Given the description of an element on the screen output the (x, y) to click on. 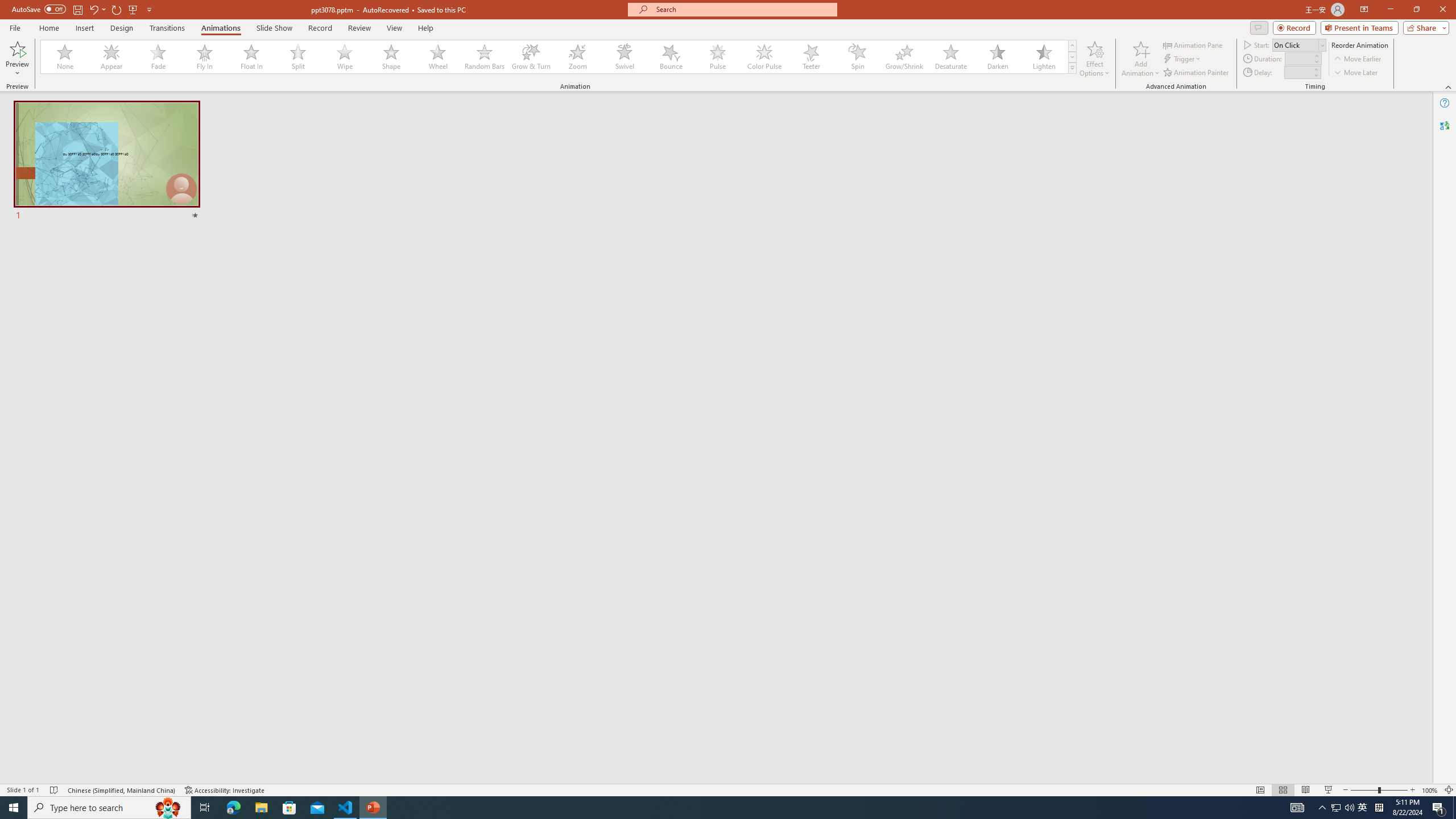
Grow/Shrink (903, 56)
Trigger (1182, 58)
Darken (997, 56)
Appear (111, 56)
Animation Painter (1196, 72)
